Given the description of an element on the screen output the (x, y) to click on. 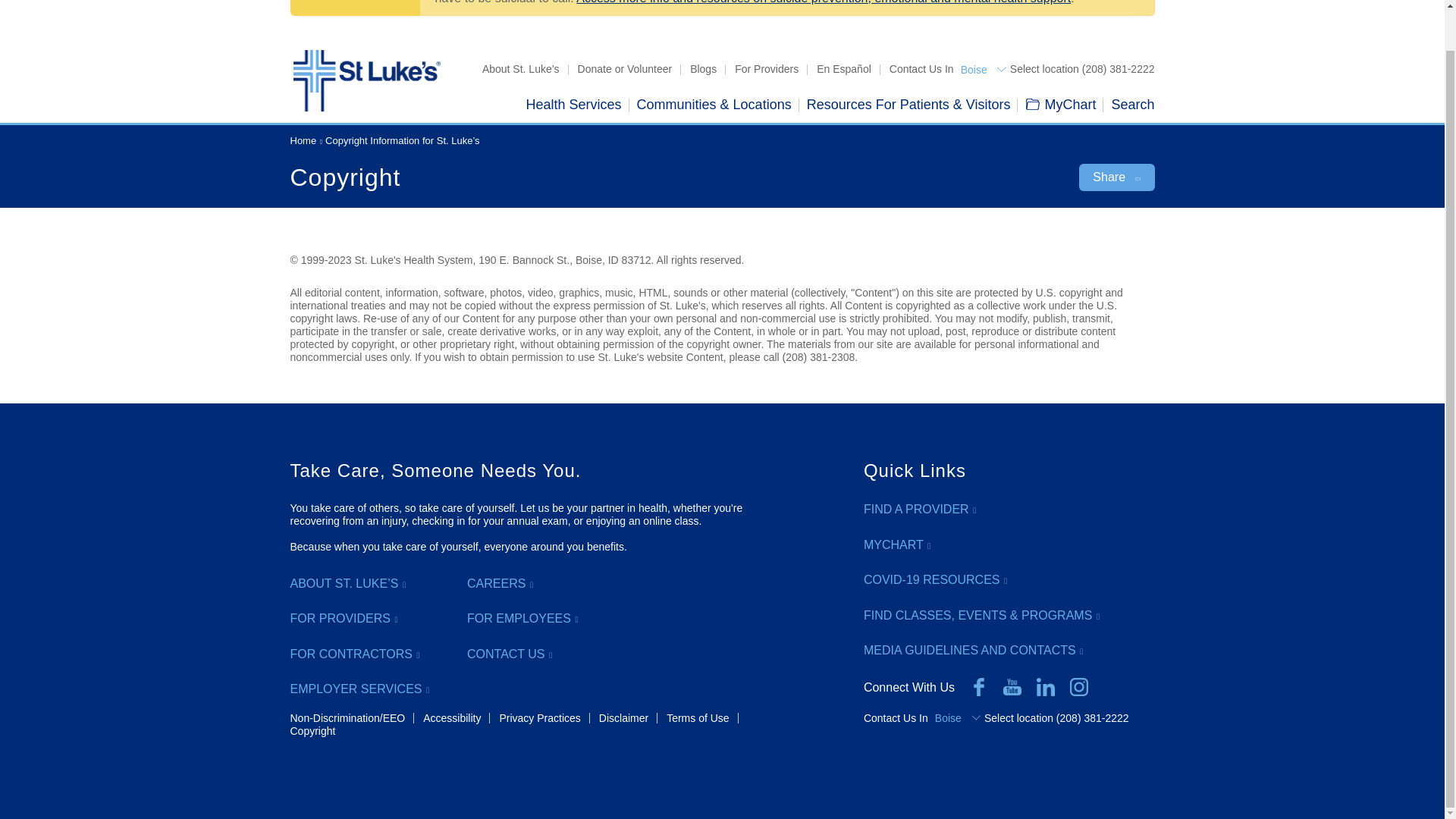
Donate or Volunteer (625, 69)
Blogs (703, 69)
Health Services (573, 104)
For Providers (766, 69)
